Given the description of an element on the screen output the (x, y) to click on. 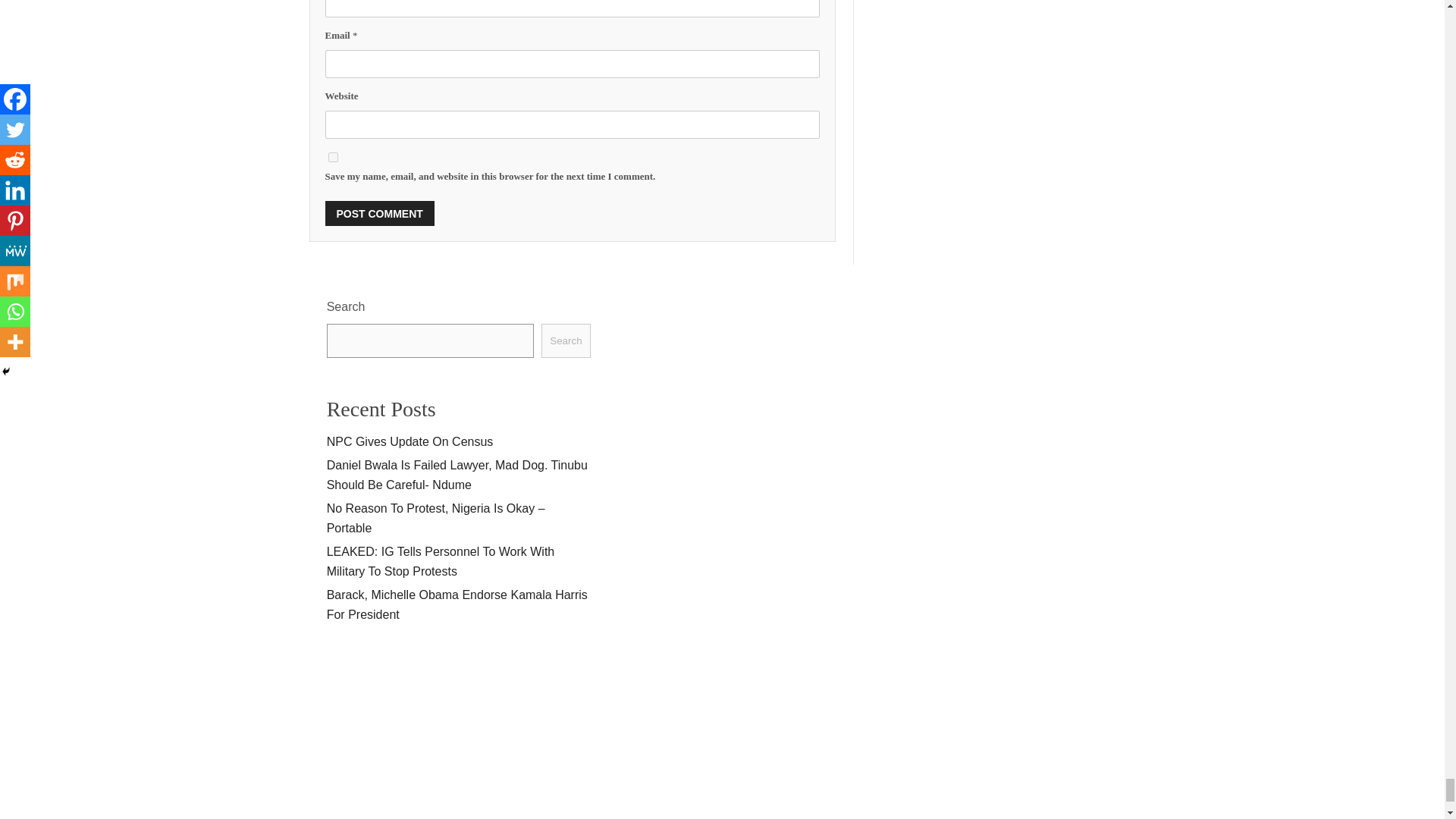
Post Comment (378, 213)
yes (332, 157)
